Given the description of an element on the screen output the (x, y) to click on. 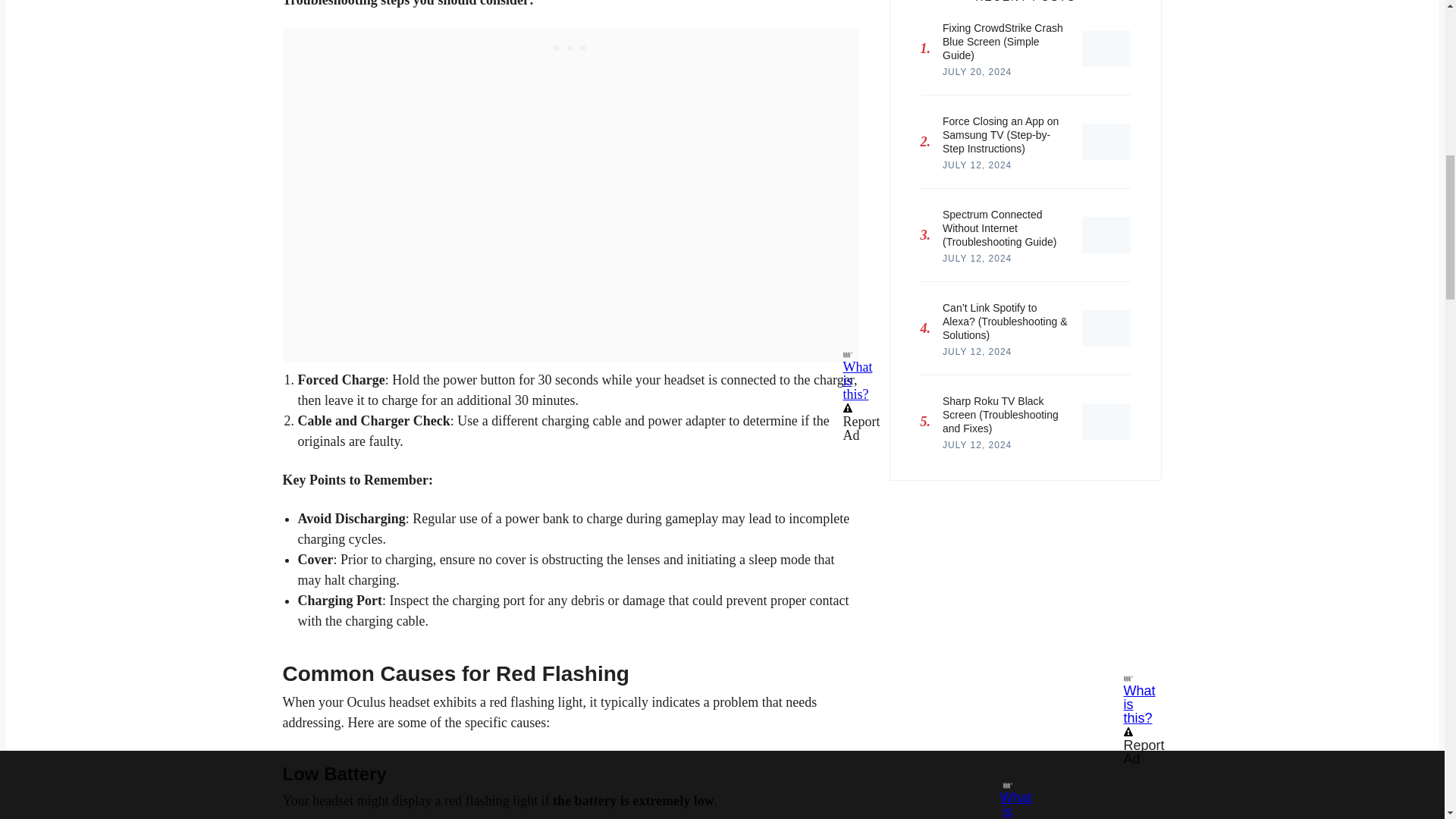
3rd party ad content (1024, 575)
3rd party ad content (569, 47)
